Given the description of an element on the screen output the (x, y) to click on. 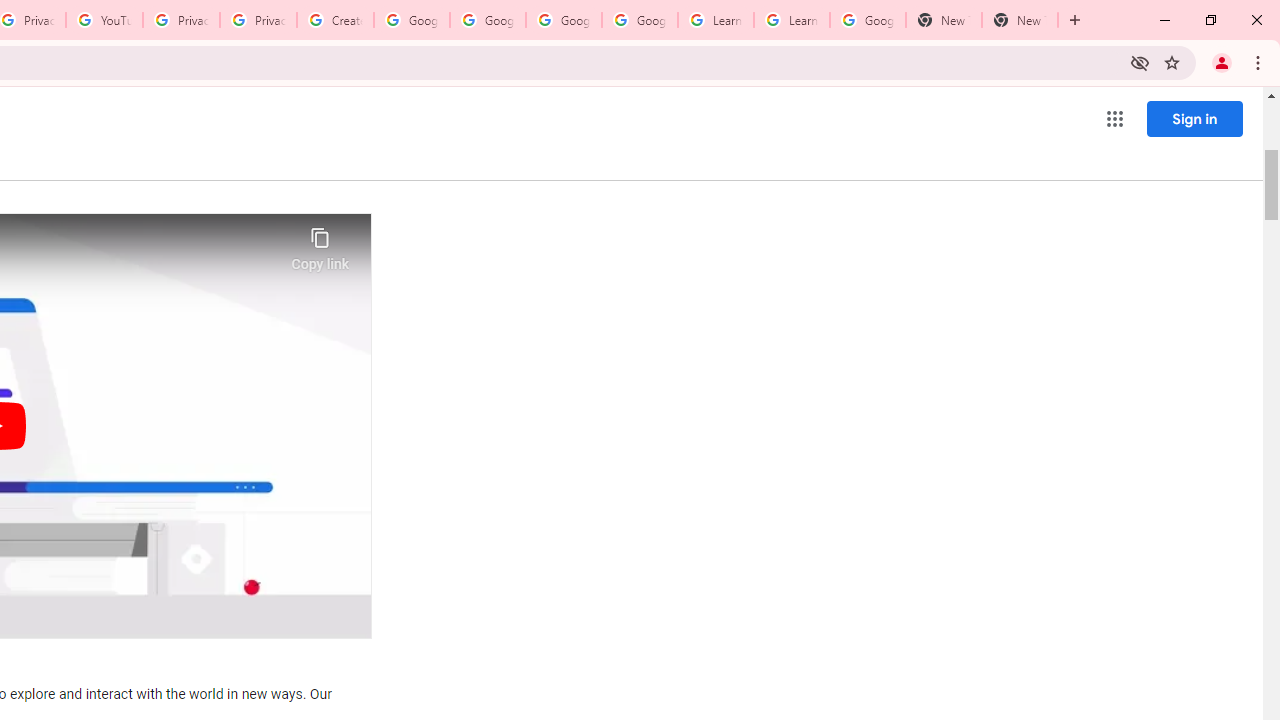
Google Account Help (488, 20)
New Tab (1019, 20)
Create your Google Account (335, 20)
Google Account Help (411, 20)
Google Account (867, 20)
YouTube (104, 20)
